Given the description of an element on the screen output the (x, y) to click on. 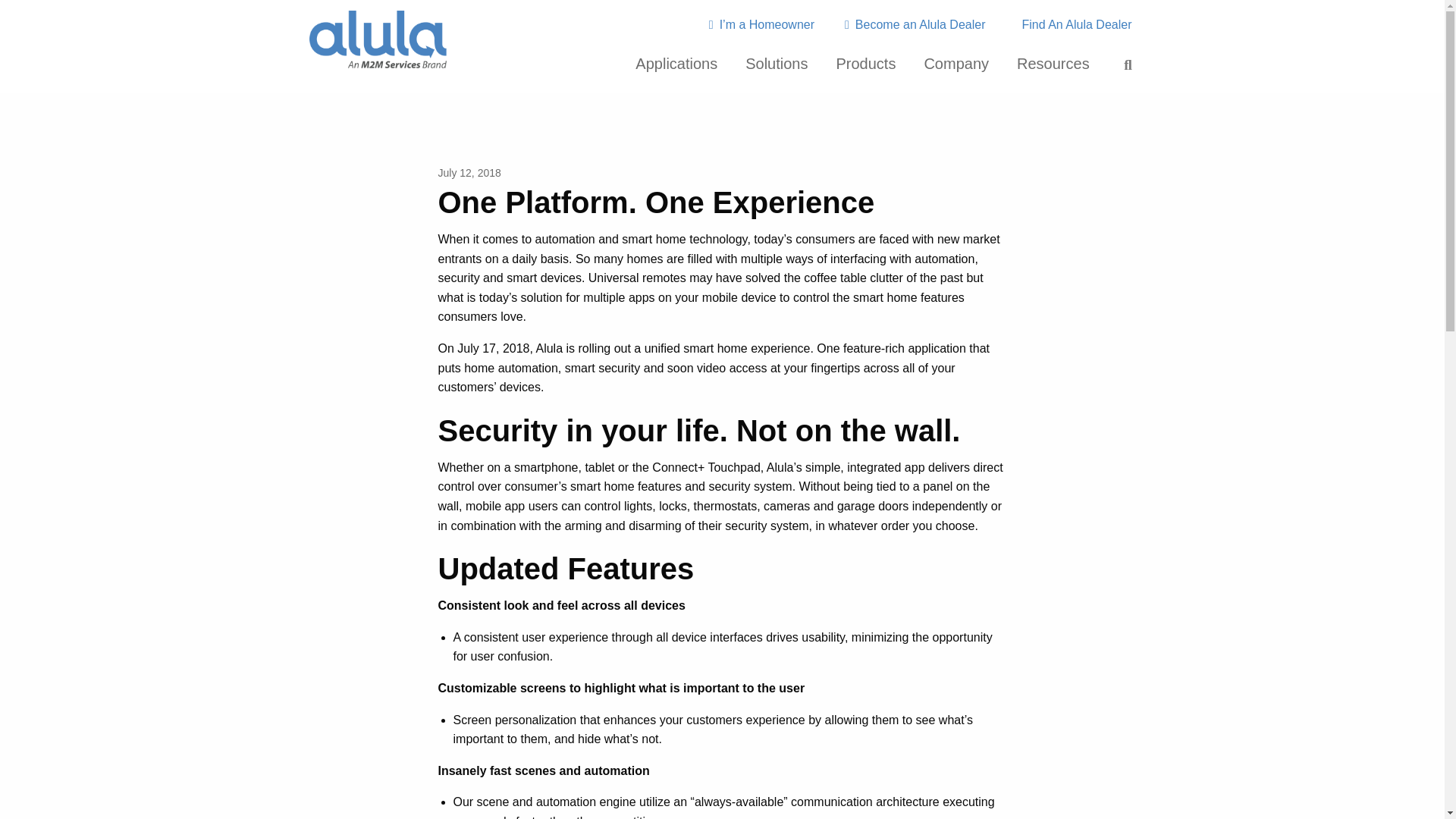
Become an Alula Dealer (915, 24)
Solutions (776, 63)
Products (865, 63)
Company (955, 63)
Find An Alula Dealer (1074, 24)
Applications (676, 63)
